Given the description of an element on the screen output the (x, y) to click on. 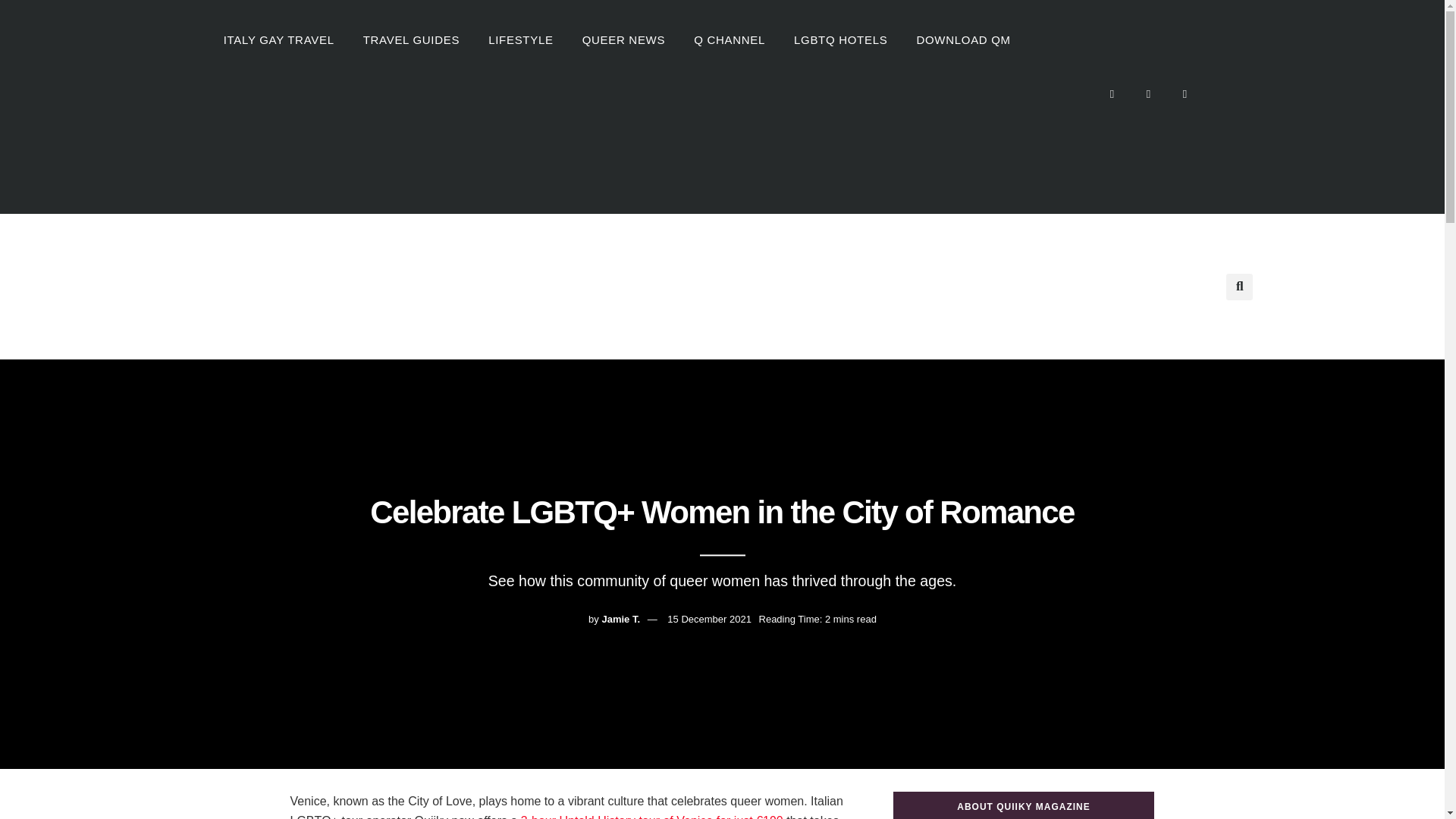
DOWNLOAD QM (963, 39)
LIFESTYLE (520, 39)
TRAVEL GUIDES (411, 39)
Jamie T. (620, 618)
15 December 2021 (708, 618)
Q CHANNEL (729, 39)
QUEER NEWS (623, 39)
LGBTQ HOTELS (840, 39)
ITALY GAY TRAVEL (279, 39)
